Given the description of an element on the screen output the (x, y) to click on. 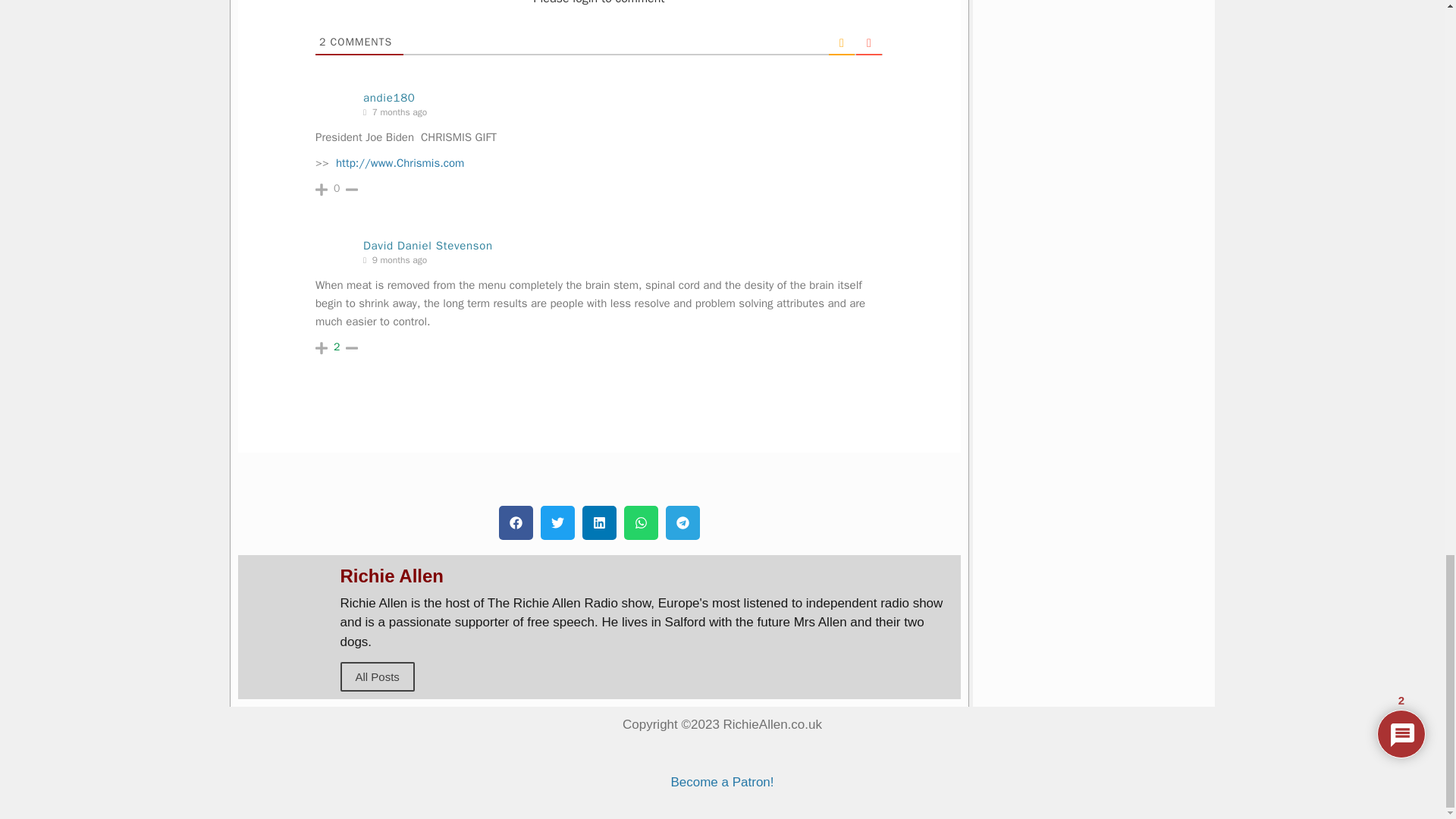
2 (336, 346)
0 (336, 188)
13th December 2023 7:16 pm (397, 112)
30th October 2023 4:51 pm (397, 260)
